Given the description of an element on the screen output the (x, y) to click on. 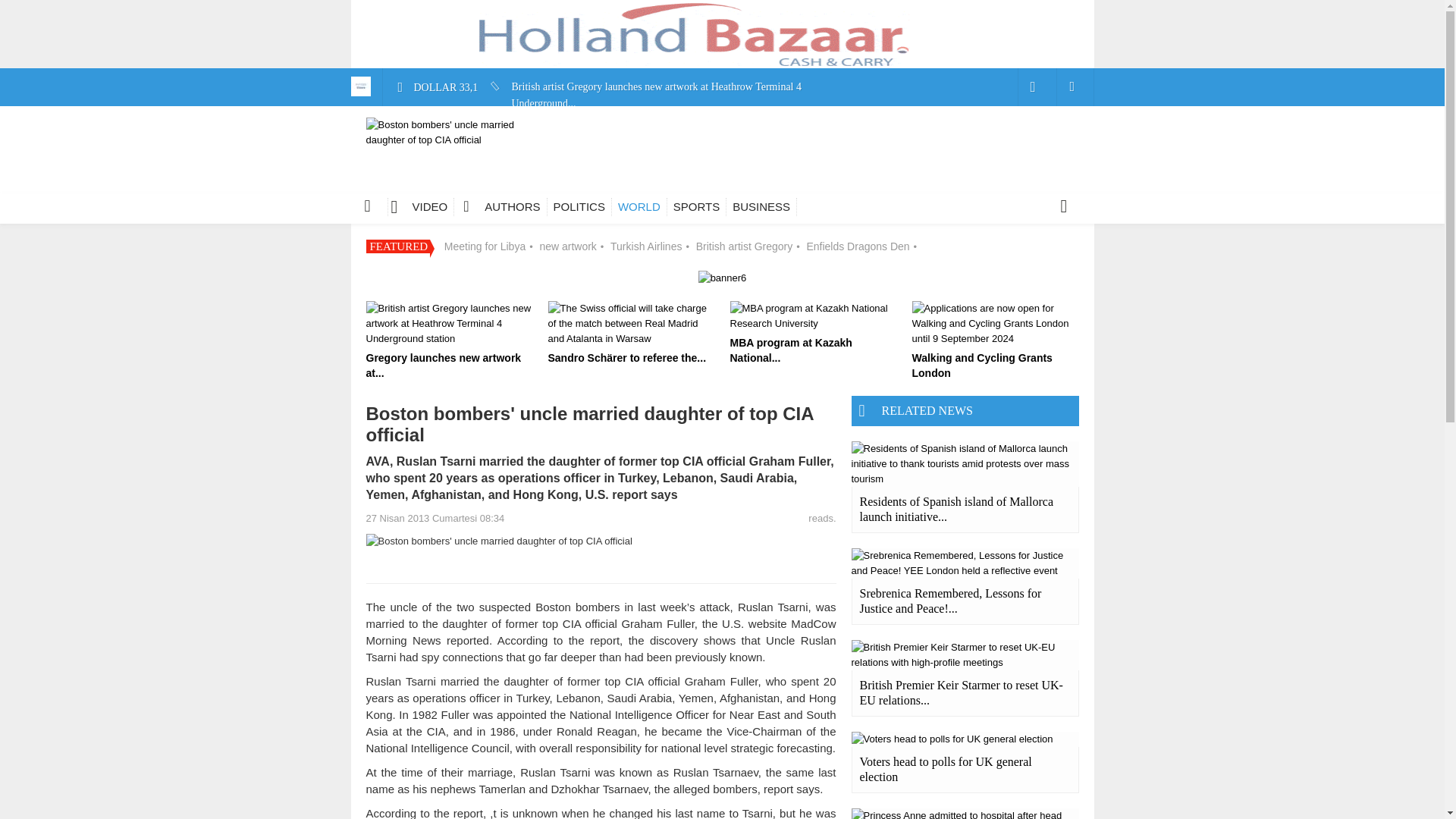
AUTHORS (503, 207)
BUSINESS (761, 207)
MBA program at Kazakh National Research University (616, 163)
WORLD (638, 207)
Second Enfield Youth and Family hub opens in Craig Park (623, 352)
SPORTS (696, 207)
POLITICS (579, 207)
POLITICS (579, 207)
SPORTS (696, 207)
